Given the description of an element on the screen output the (x, y) to click on. 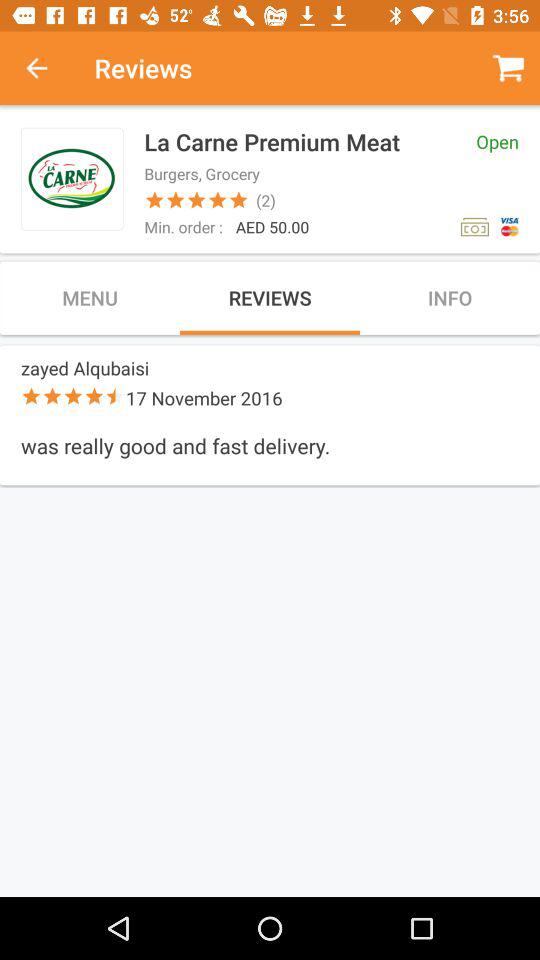
go back (47, 68)
